Given the description of an element on the screen output the (x, y) to click on. 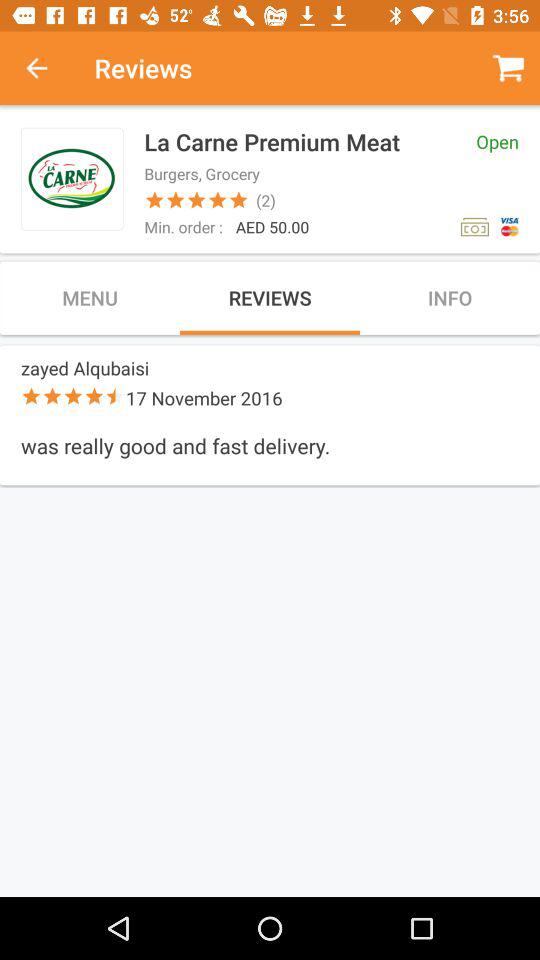
go back (47, 68)
